Given the description of an element on the screen output the (x, y) to click on. 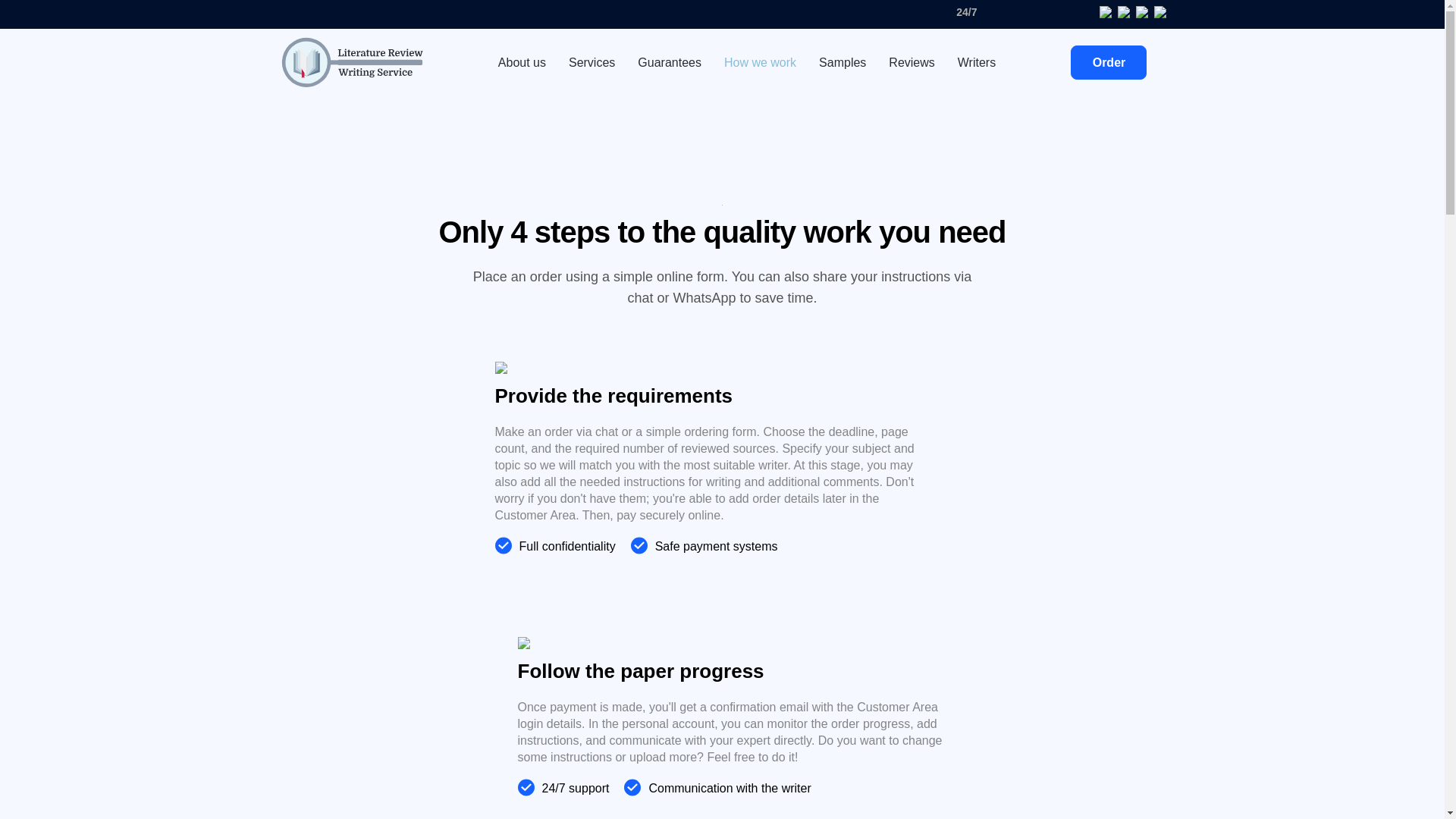
About us (521, 62)
How we work (759, 62)
Reviews (911, 62)
Samples (842, 62)
Writers (976, 62)
Guarantees (669, 62)
Order (1108, 62)
Services (591, 62)
